Given the description of an element on the screen output the (x, y) to click on. 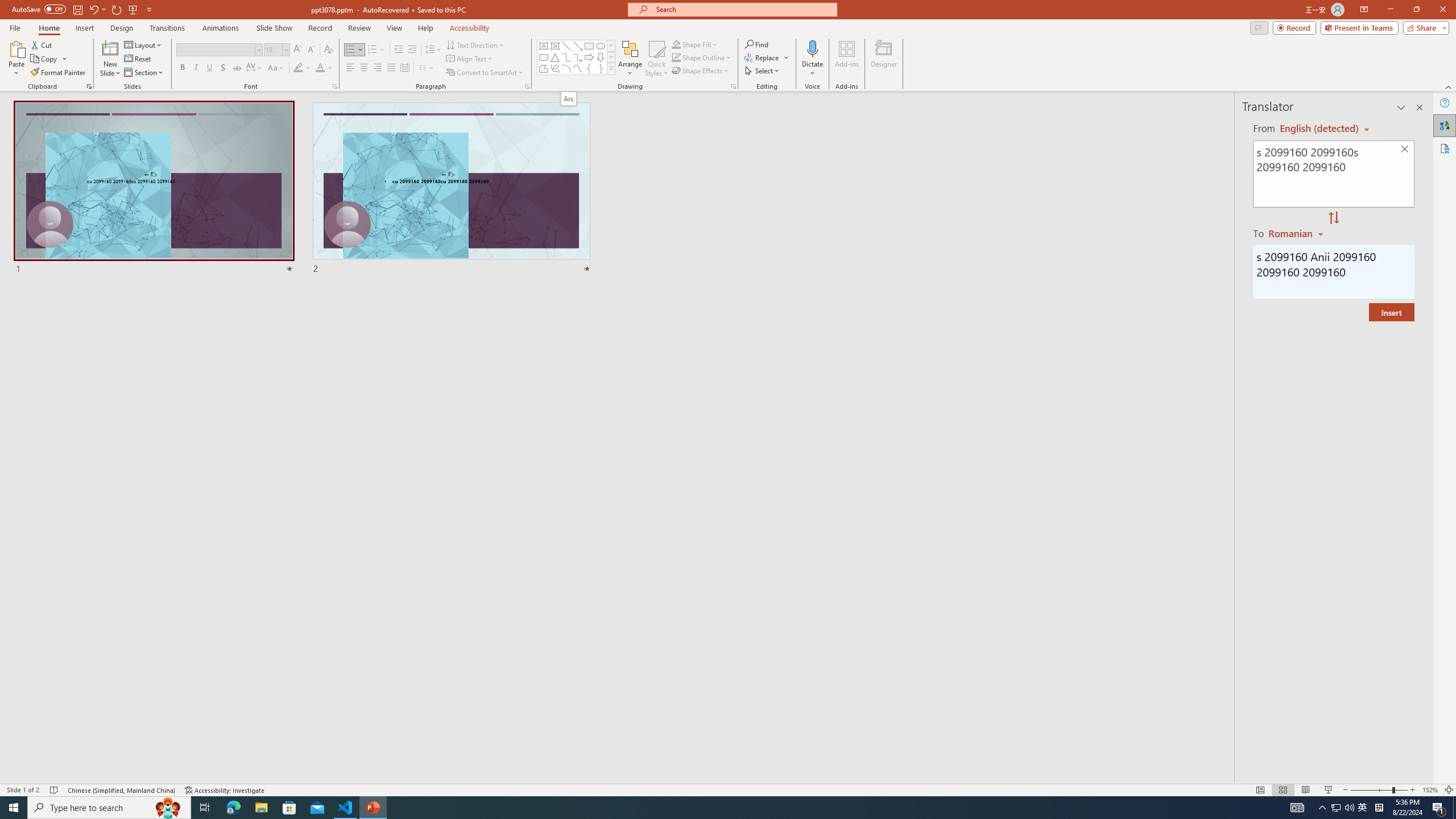
Line (566, 45)
Line Spacing (433, 49)
Align Left (349, 67)
Select (762, 69)
Text Highlight Color Yellow (297, 67)
Italic (195, 67)
AutomationID: ShapesInsertGallery (576, 57)
Clear Formatting (327, 49)
